Given the description of an element on the screen output the (x, y) to click on. 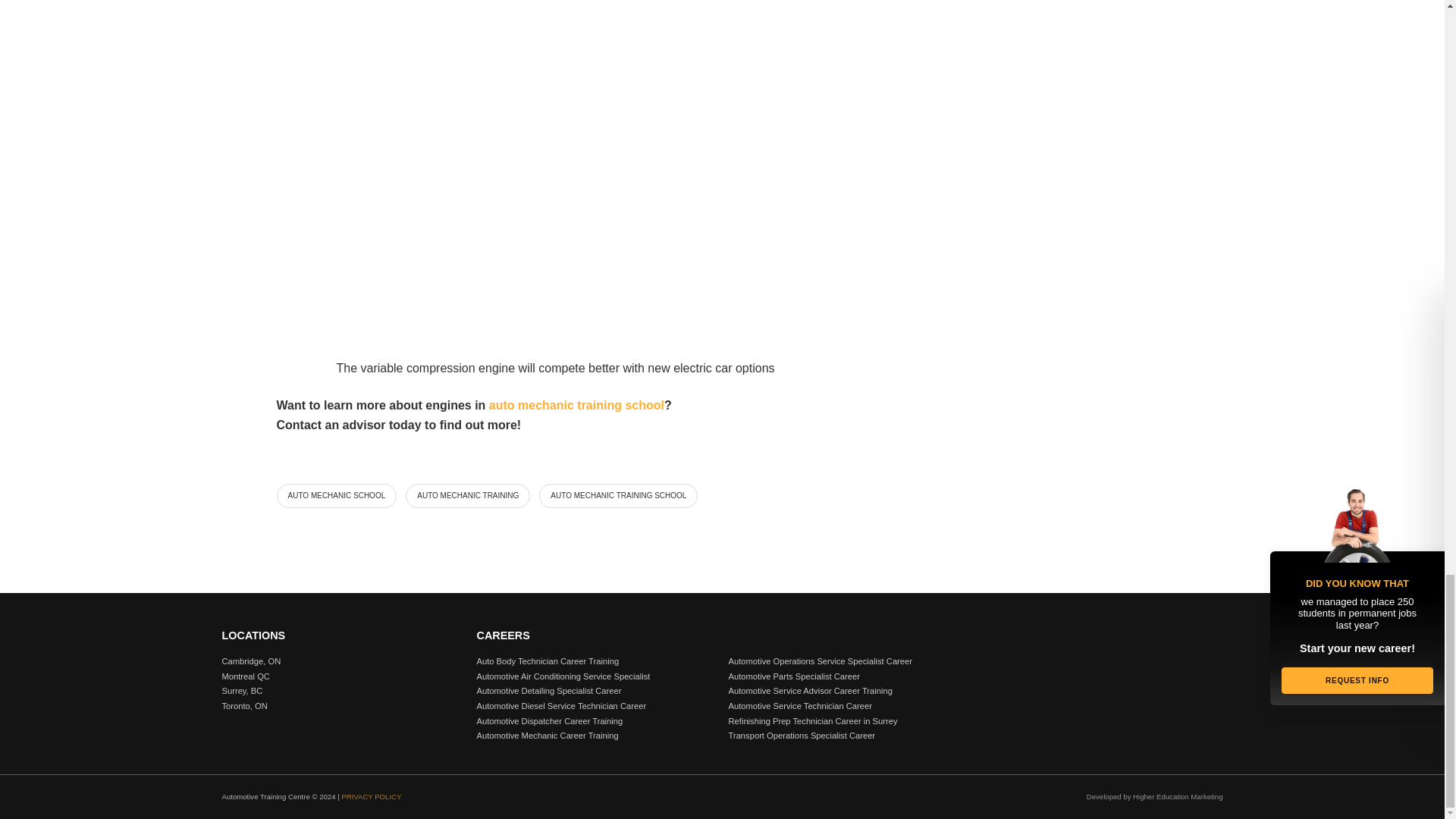
AUTO MECHANIC TRAINING SCHOOL (617, 495)
AUTO MECHANIC TRAINING (467, 495)
AUTO MECHANIC SCHOOL (336, 495)
auto mechanic training school (576, 404)
